Given the description of an element on the screen output the (x, y) to click on. 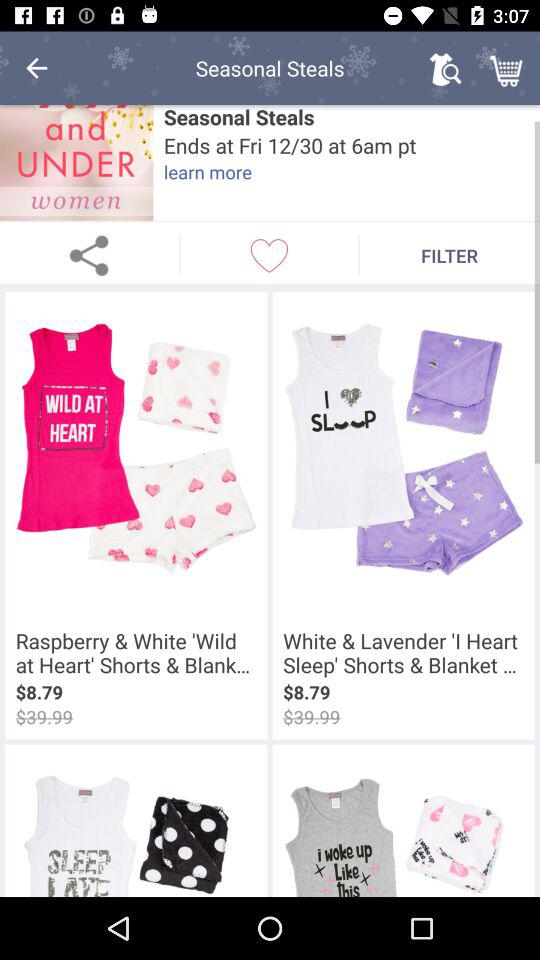
click icon next to the seasonal steals (36, 68)
